Given the description of an element on the screen output the (x, y) to click on. 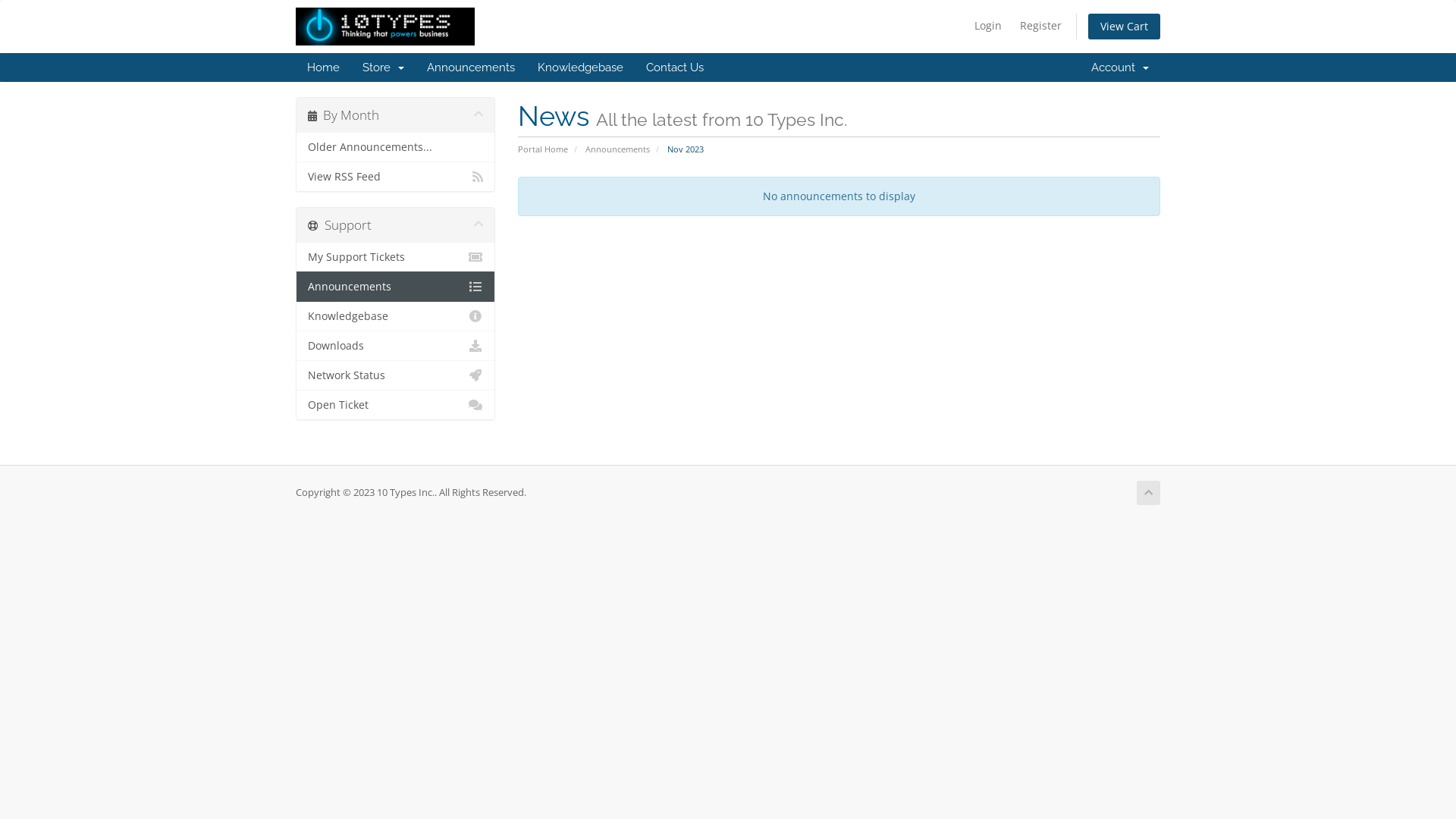
View RSS Feed Element type: text (395, 176)
Login Element type: text (987, 25)
View Cart Element type: text (1124, 26)
Portal Home Element type: text (542, 148)
Store   Element type: text (383, 67)
Downloads Element type: text (395, 345)
Register Element type: text (1040, 25)
Announcements Element type: text (617, 148)
Home Element type: text (323, 67)
My Support Tickets Element type: text (395, 257)
Open Ticket Element type: text (395, 404)
Account   Element type: text (1119, 67)
Knowledgebase Element type: text (580, 67)
Older Announcements... Element type: text (395, 147)
Network Status Element type: text (395, 375)
Announcements Element type: text (470, 67)
Contact Us Element type: text (674, 67)
Knowledgebase Element type: text (395, 316)
Announcements Element type: text (395, 286)
